Given the description of an element on the screen output the (x, y) to click on. 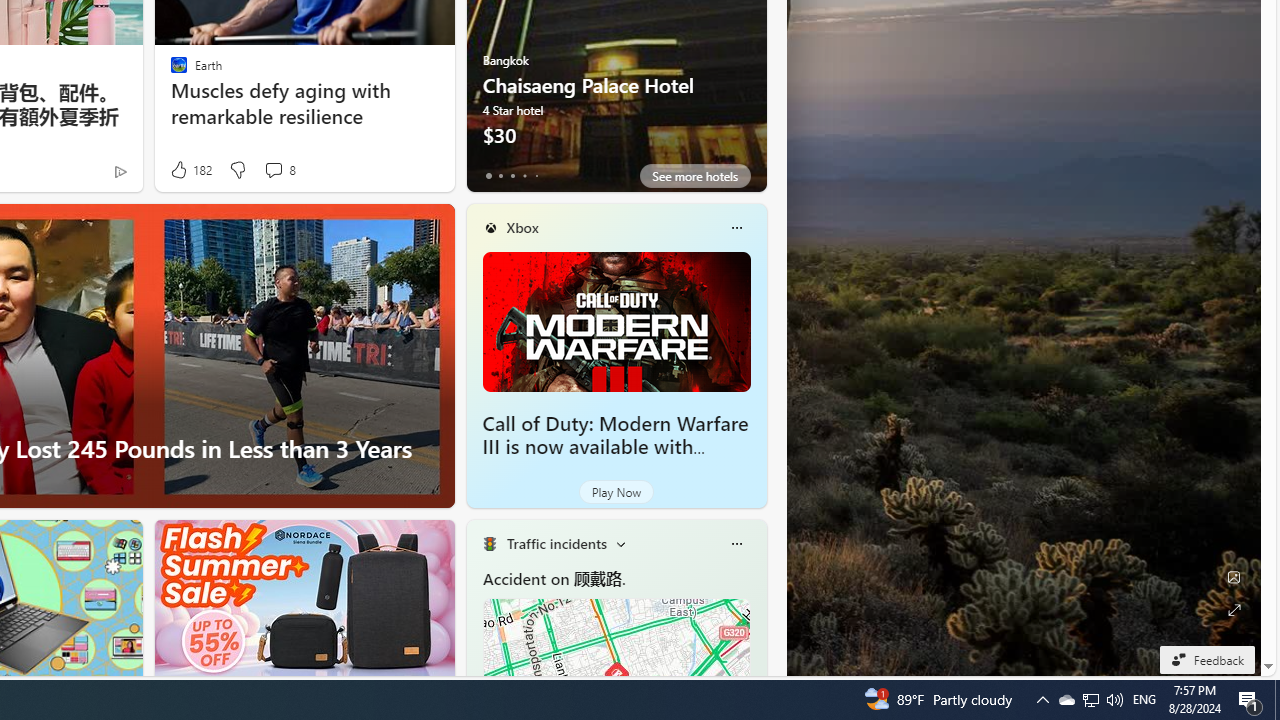
Expand background (1233, 610)
Dislike (237, 170)
tab-4 (535, 175)
Traffic incidents (555, 543)
182 Like (190, 170)
See more hotels (694, 175)
Ad Choice (119, 171)
Feedback (1206, 659)
